Given the description of an element on the screen output the (x, y) to click on. 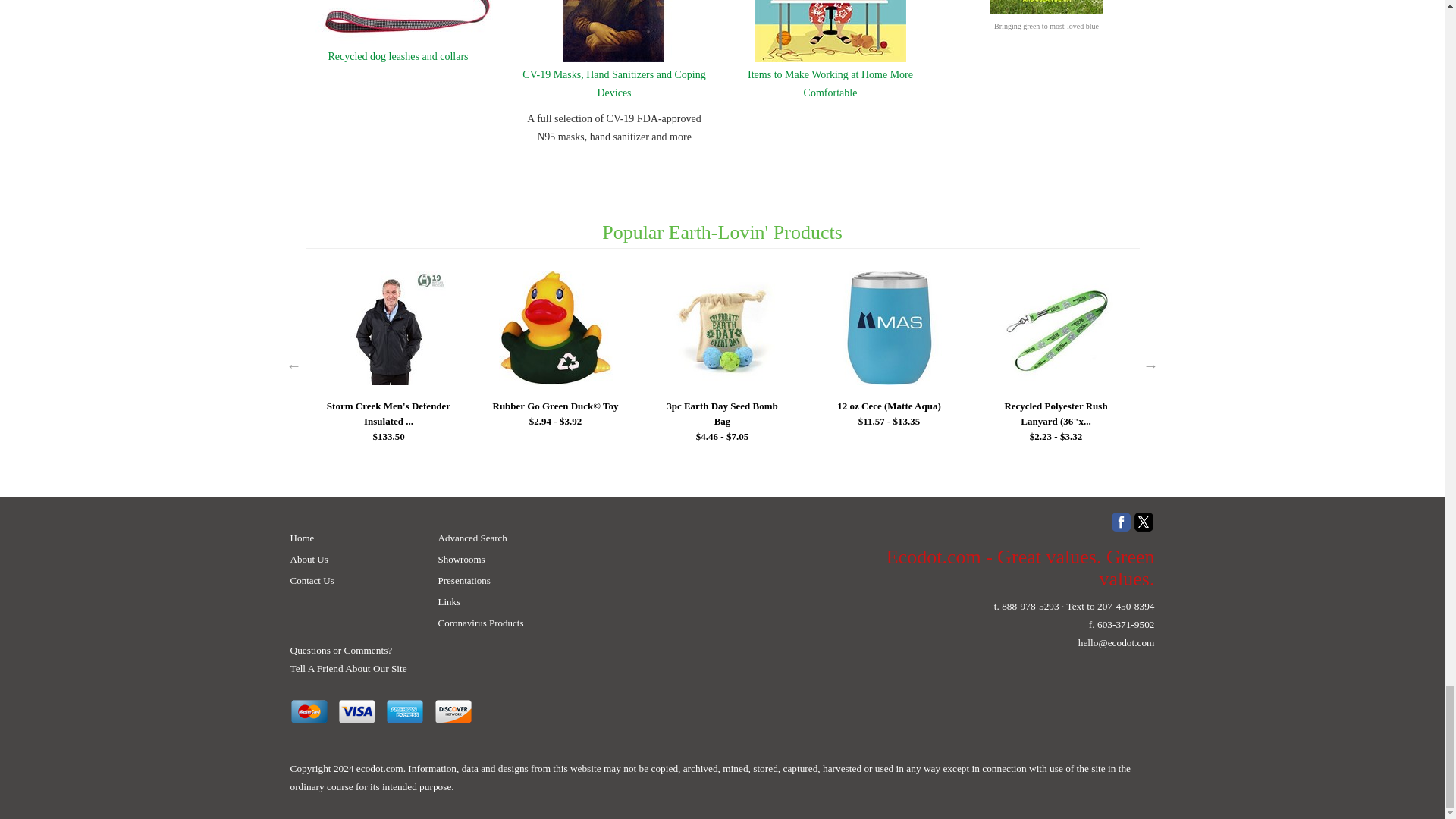
Visit us on Facebook (1121, 521)
Visit us on Twitter (1143, 521)
